Given the description of an element on the screen output the (x, y) to click on. 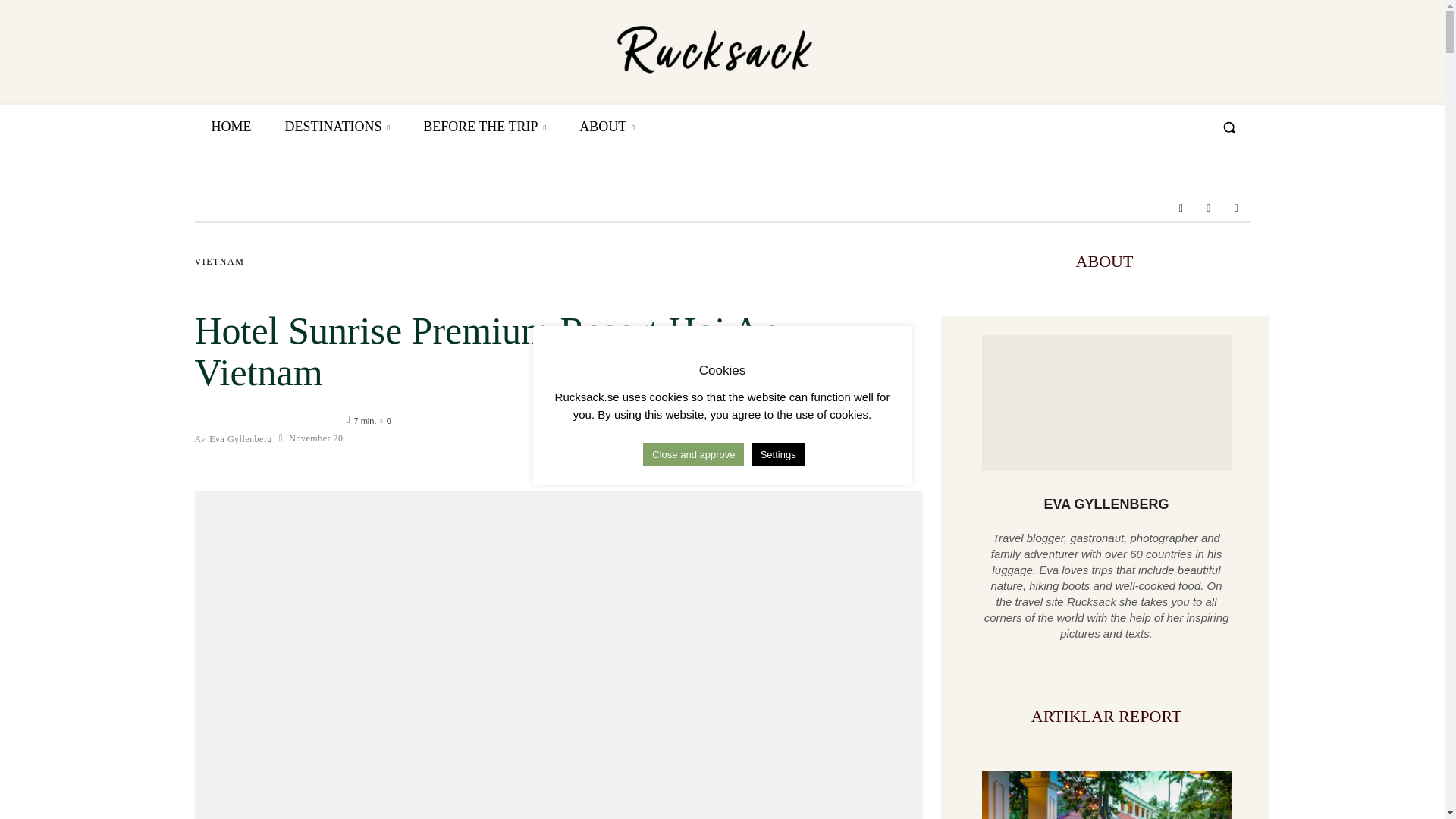
Instagram (1209, 207)
Facebook (1180, 207)
Youtube (1236, 207)
